Given the description of an element on the screen output the (x, y) to click on. 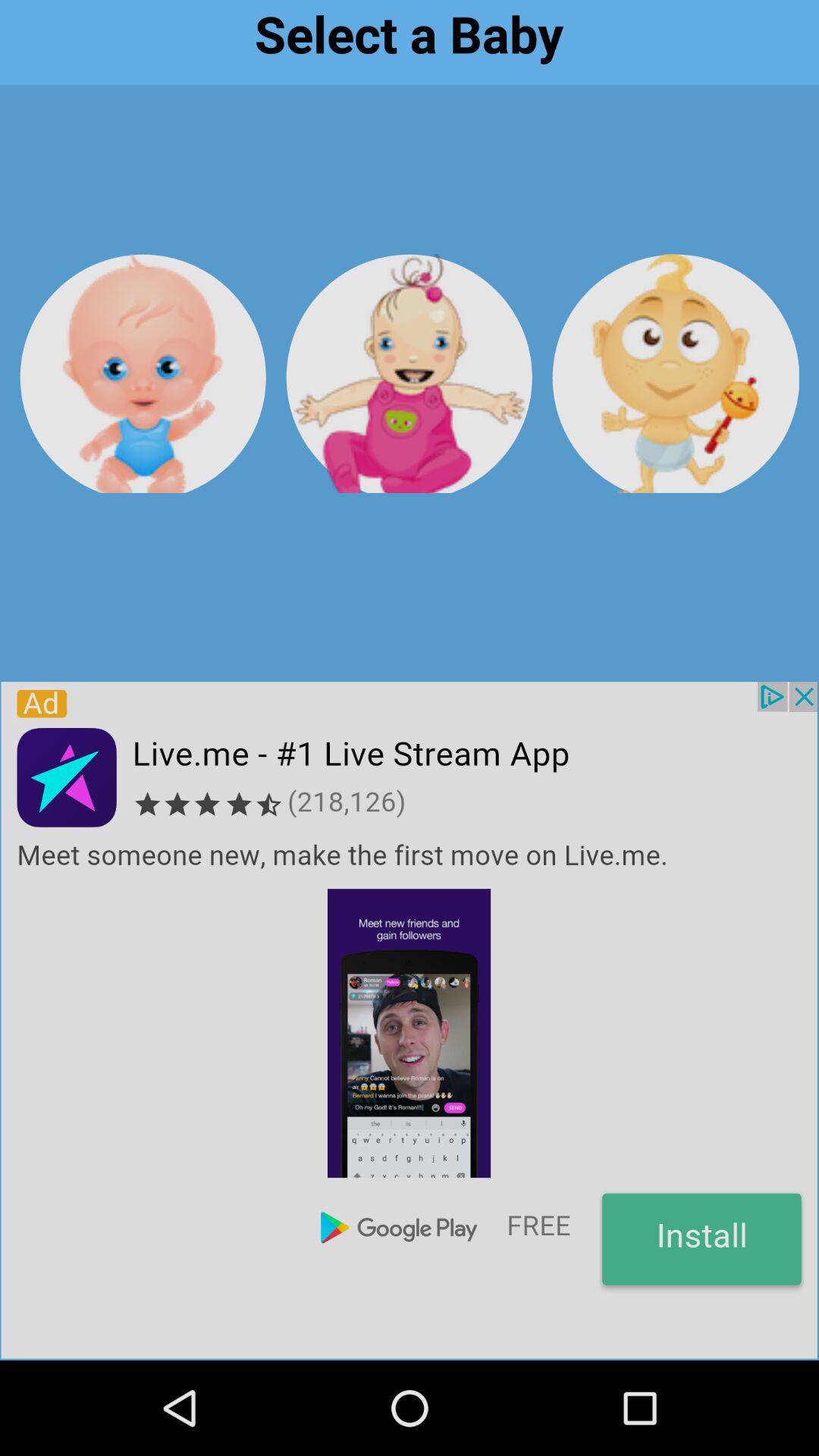
select 3rd baby (675, 373)
